Given the description of an element on the screen output the (x, y) to click on. 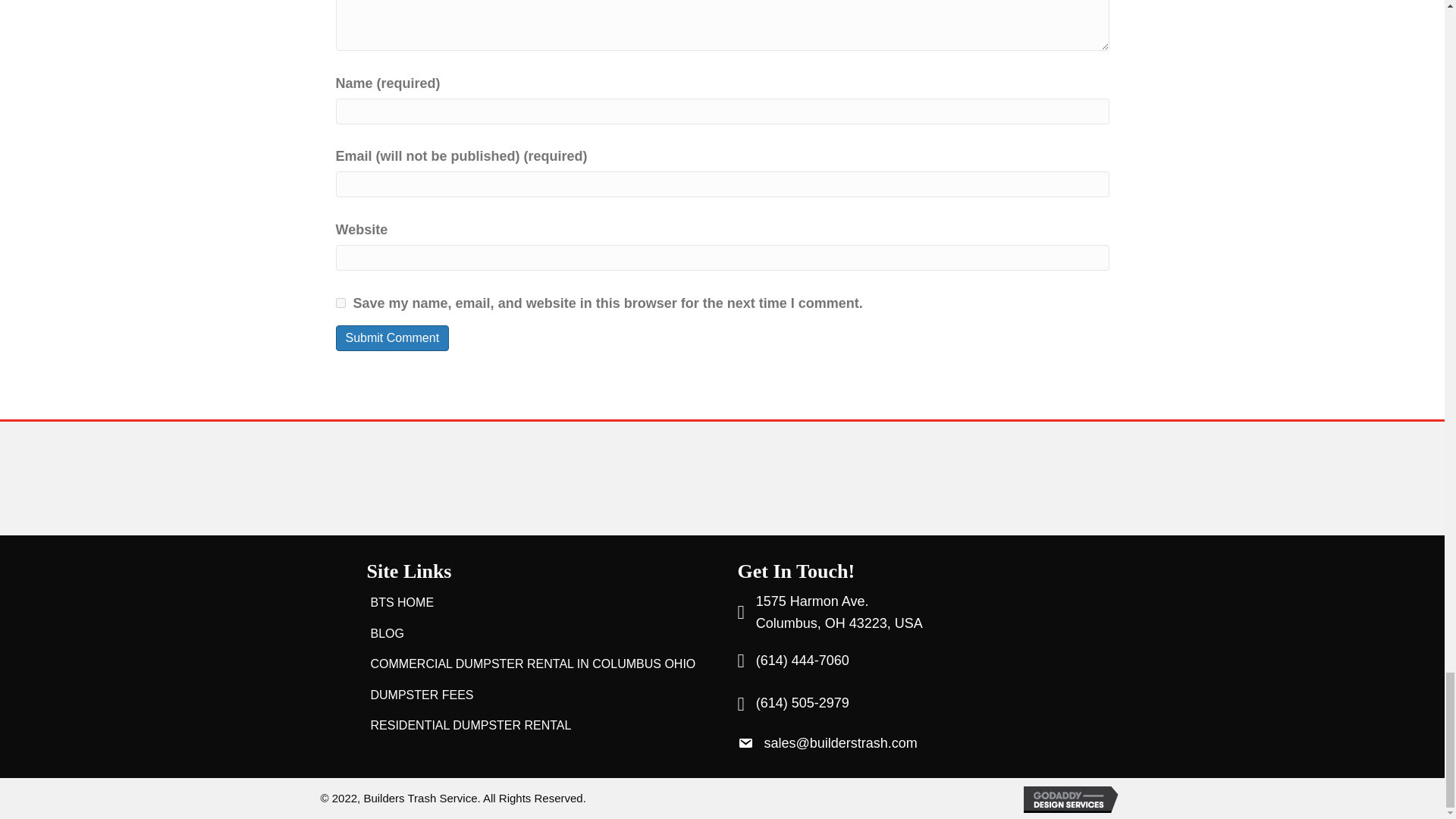
yes (339, 302)
DUMPSTER FEES (421, 695)
Submit Comment (391, 337)
COMMERCIAL DUMPSTER RENTAL IN COLUMBUS OHIO (533, 664)
Submit Comment (839, 612)
RESIDENTIAL DUMPSTER RENTAL (391, 337)
BLOG (470, 725)
BTS HOME (386, 633)
